Given the description of an element on the screen output the (x, y) to click on. 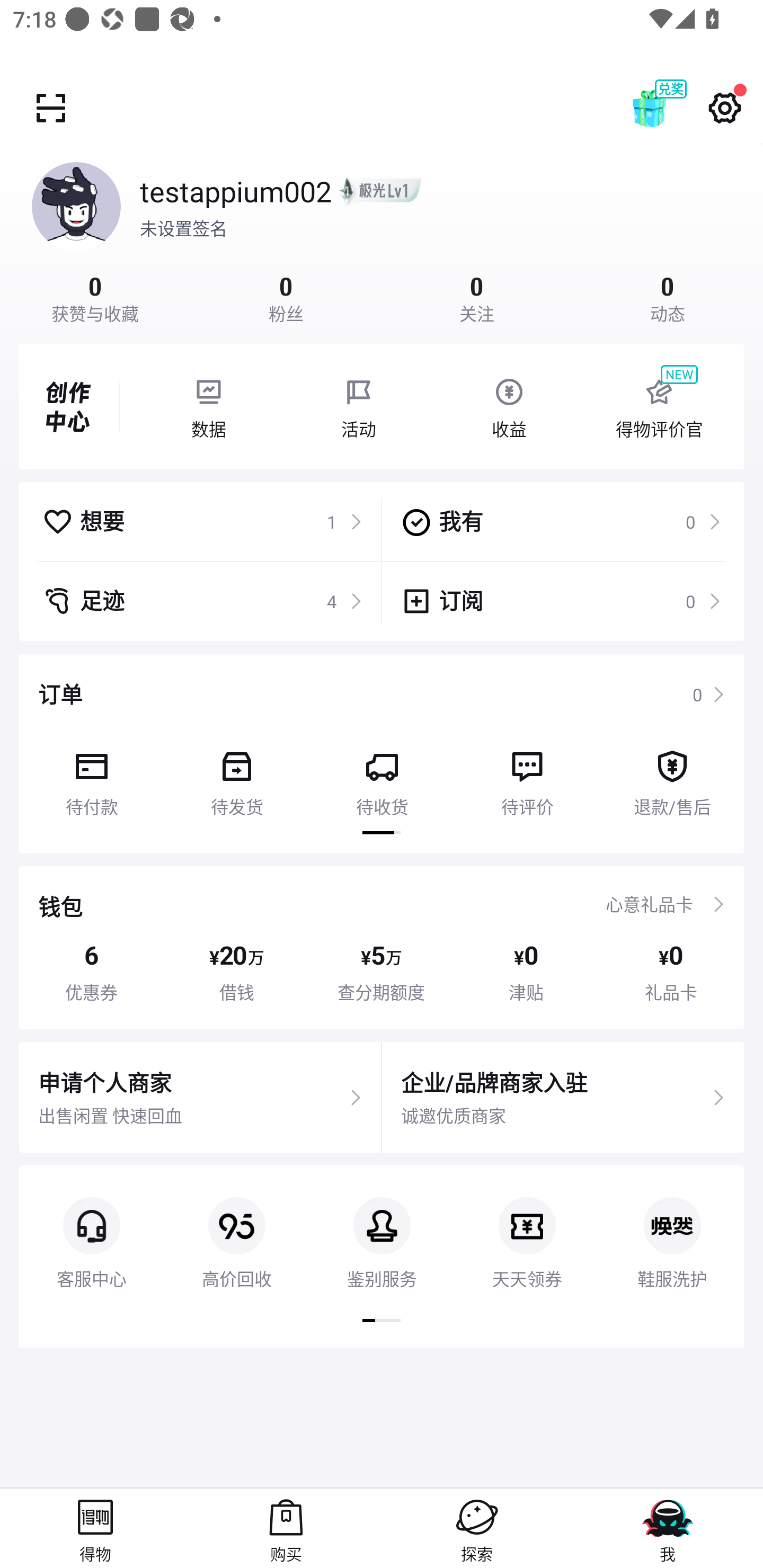
兑奖 (667, 107)
testappium002 未设置签名 0 获赞与收藏 0 粉丝 0 关注 0 动态 (381, 233)
0 获赞与收藏 (95, 296)
0 粉丝 (285, 296)
0 关注 (476, 296)
0 动态 (667, 296)
数据 (208, 406)
活动 (358, 406)
收益 (508, 406)
NEW 得物评价官 (658, 406)
想要 1 (201, 521)
我有 0 (560, 521)
足迹 4 (201, 601)
订阅 0 (560, 601)
订单 0 待付款 待发货 待收货 待评价 退款/售后 (381, 752)
待付款 (91, 776)
待发货 (236, 776)
待收货 (381, 776)
待评价 (526, 776)
退款/售后 (671, 776)
心意礼品卡 (648, 903)
6 优惠券 (91, 971)
¥ 20 万 借钱 (236, 971)
¥ 5 万 查分期额度 (381, 971)
¥ 0 津贴 (525, 971)
¥ 0 礼品卡 (670, 971)
申请个人商家 出售闲置 快速回血 (199, 1097)
企业/品牌商家入驻 诚邀优质商家 (562, 1097)
客服中心 (91, 1227)
高价回收 (236, 1227)
鉴别服务 (381, 1227)
天天领券 (526, 1227)
鞋服洗护 (671, 1227)
得物 (95, 1528)
购买 (285, 1528)
探索 (476, 1528)
我 (667, 1528)
